Given the description of an element on the screen output the (x, y) to click on. 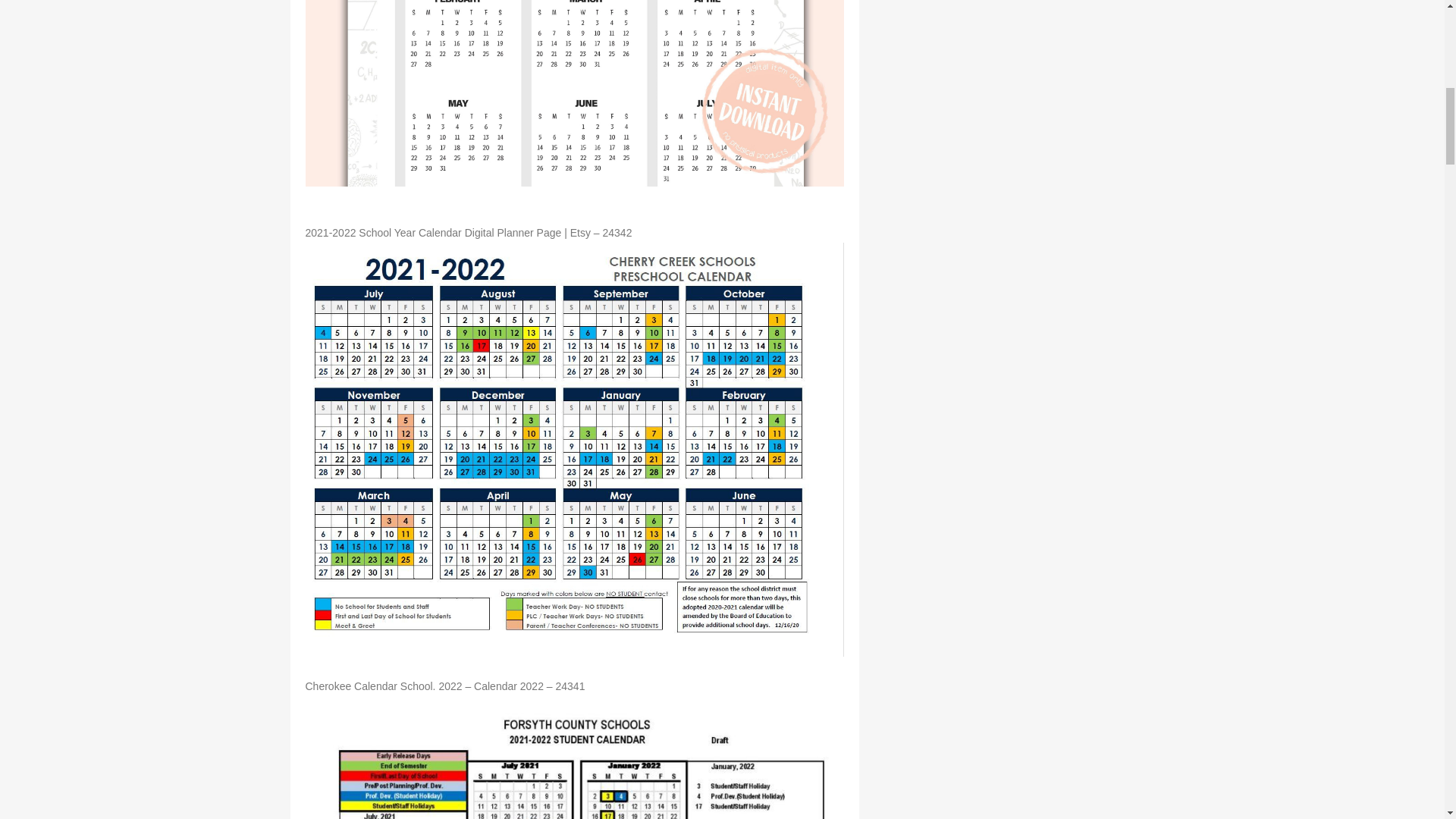
Forsyth County School Calendar 2021-2022 In Pdf (573, 757)
